Given the description of an element on the screen output the (x, y) to click on. 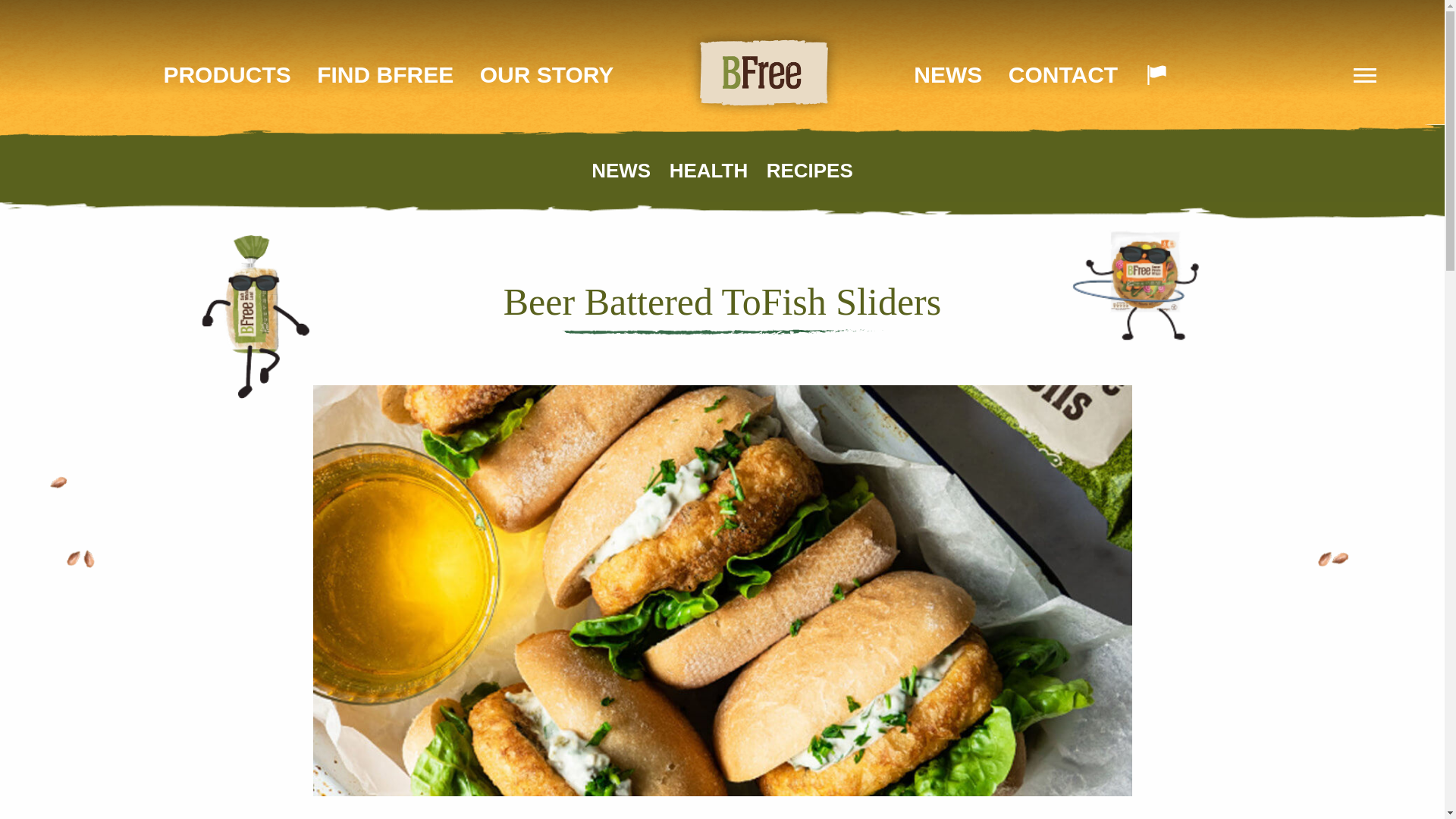
HOME (763, 72)
NEWS (620, 169)
PRODUCTS (226, 74)
HEALTH (708, 169)
FIND BFREE (384, 74)
RECIPES (810, 169)
NEWS (947, 74)
OUR STORY (547, 74)
CONTACT (1063, 74)
COUNTRY (1156, 75)
